Given the description of an element on the screen output the (x, y) to click on. 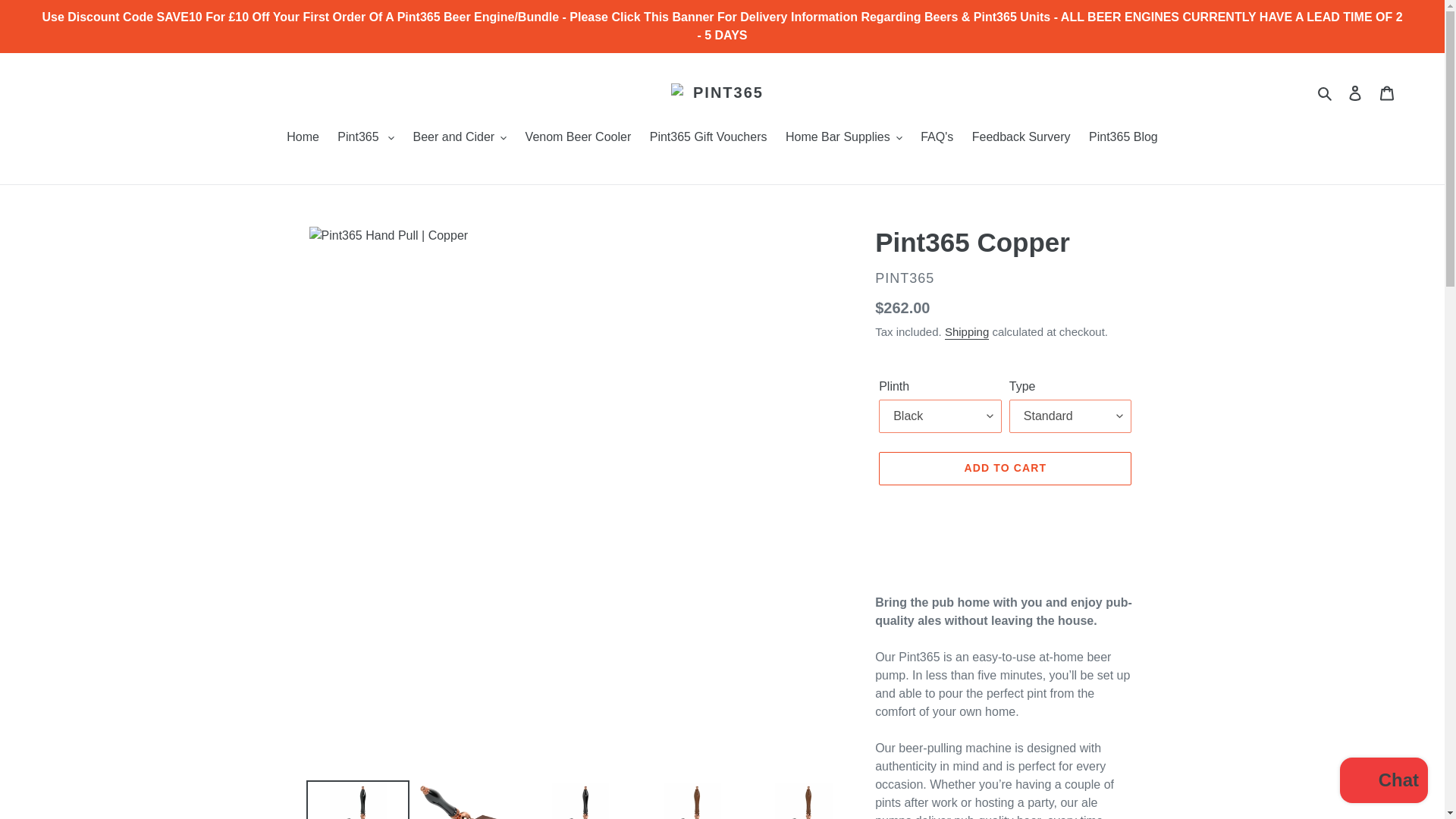
Cart (1387, 92)
Search (1326, 92)
Shopify online store chat (1383, 781)
Log in (1355, 92)
